Given the description of an element on the screen output the (x, y) to click on. 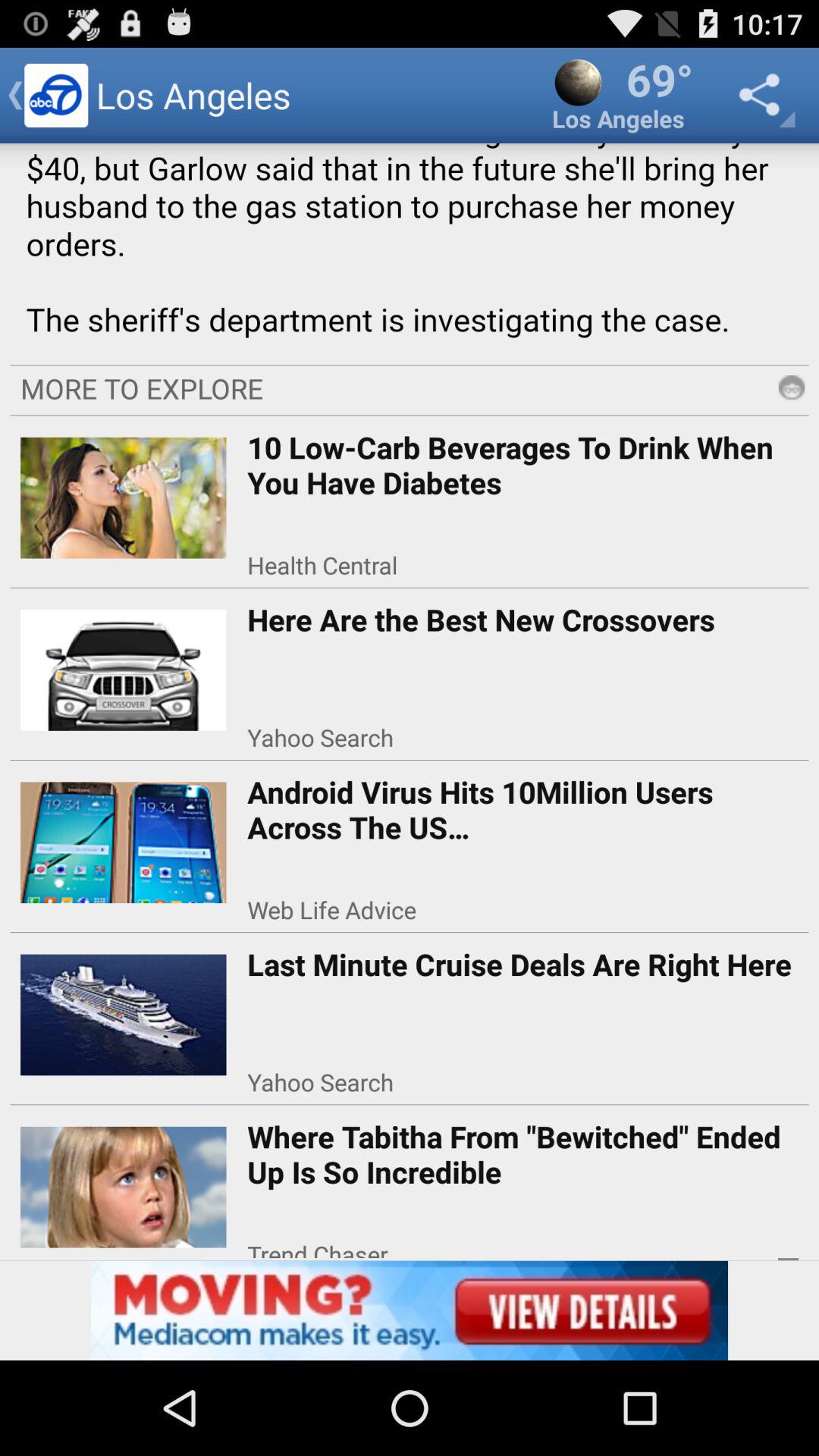
click on the image which is on the left side of last minute deals are right here (123, 1009)
select the first image in the row (123, 492)
go to left of third option (123, 836)
